Given the description of an element on the screen output the (x, y) to click on. 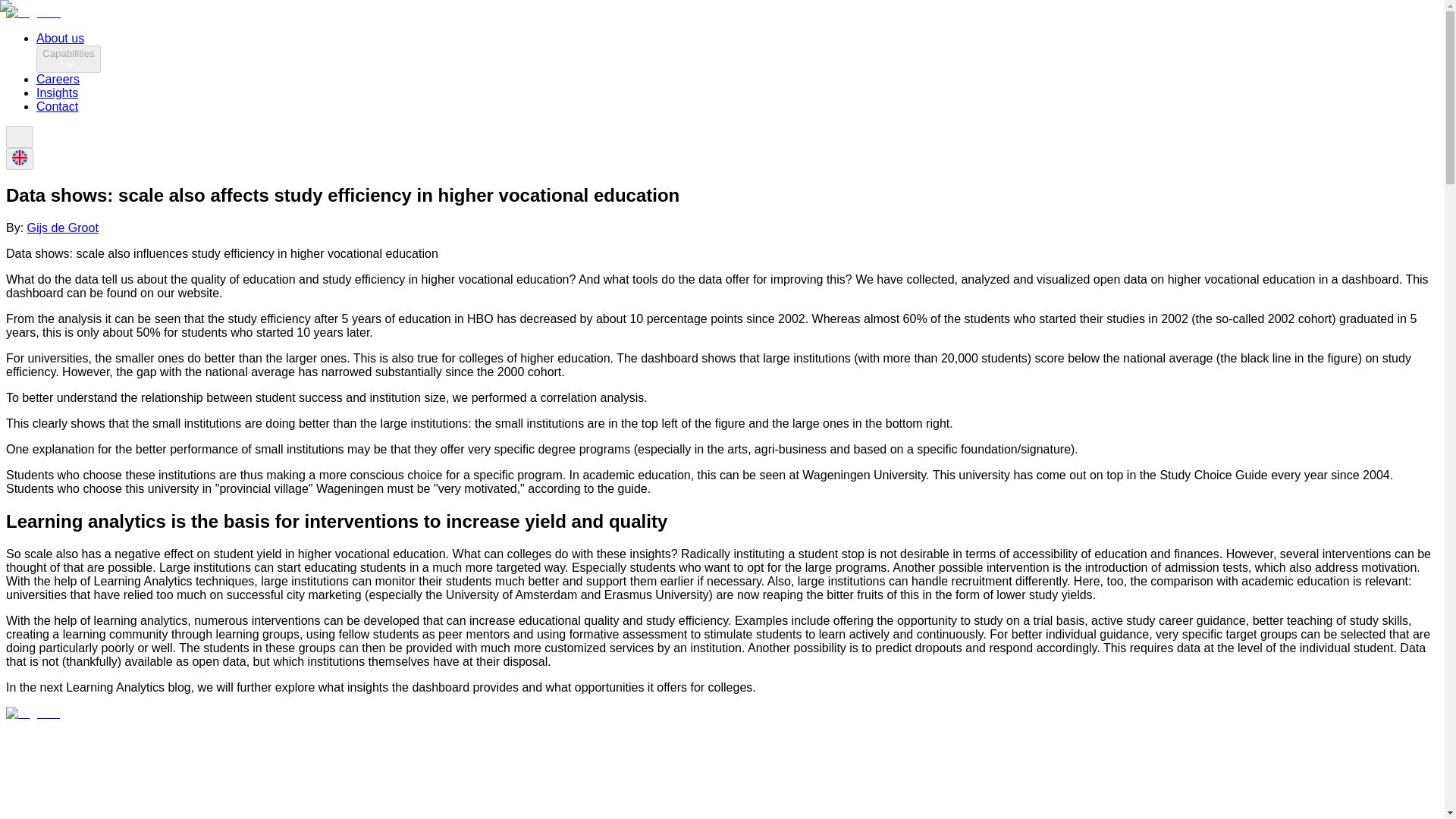
Capabilities (68, 58)
Gijs de Groot (63, 227)
